Given the description of an element on the screen output the (x, y) to click on. 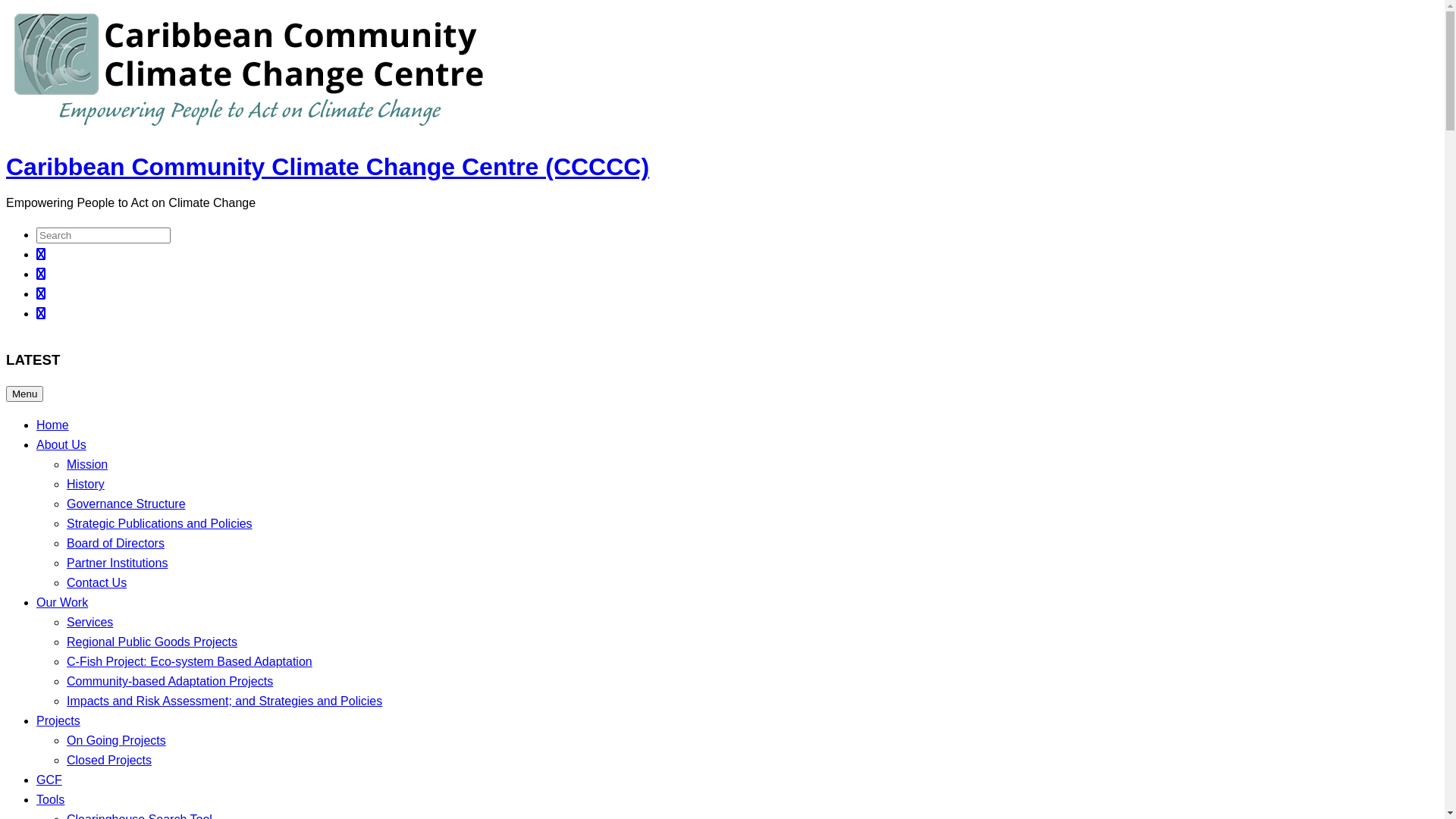
GCF Element type: text (49, 779)
Skip to content Element type: text (5, 5)
On Going Projects Element type: text (116, 740)
Board of Directors Element type: text (115, 542)
Mission Element type: text (86, 464)
Our Work Element type: text (61, 602)
Home Element type: text (52, 424)
Contact Us Element type: text (96, 582)
Partner Institutions Element type: text (116, 562)
About Us Element type: text (61, 444)
History Element type: text (85, 483)
Tools Element type: text (50, 799)
Regional Public Goods Projects Element type: text (151, 641)
C-Fish Project: Eco-system Based Adaptation Element type: text (189, 661)
Closed Projects Element type: text (108, 759)
Services Element type: text (89, 621)
Caribbean Community Climate Change Centre (CCCCC) Element type: text (327, 166)
Menu Element type: text (24, 393)
Projects Element type: text (58, 720)
Governance Structure Element type: text (125, 503)
Strategic Publications and Policies Element type: text (159, 523)
Community-based Adaptation Projects Element type: text (169, 680)
Impacts and Risk Assessment; and Strategies and Policies Element type: text (224, 700)
